Given the description of an element on the screen output the (x, y) to click on. 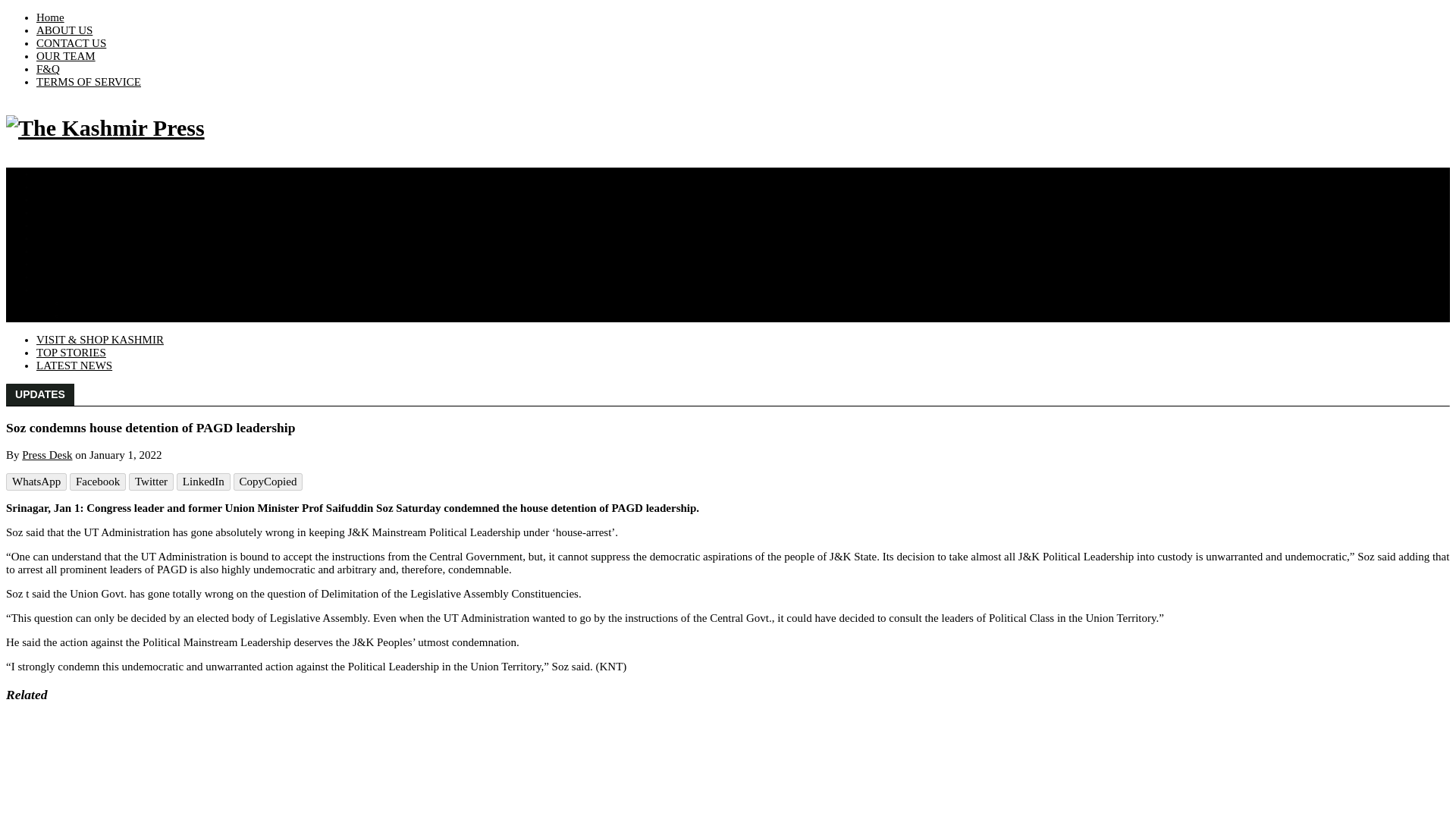
Everything in Black and White (50, 17)
ABOUT US (64, 30)
Home (50, 17)
TERMS OF SERVICE (88, 81)
BUSINESS (63, 276)
WORLD (57, 237)
NOTICE BOARD (78, 212)
FEATURES (64, 186)
KASHMIR (62, 173)
CONTACT US (71, 42)
